Given the description of an element on the screen output the (x, y) to click on. 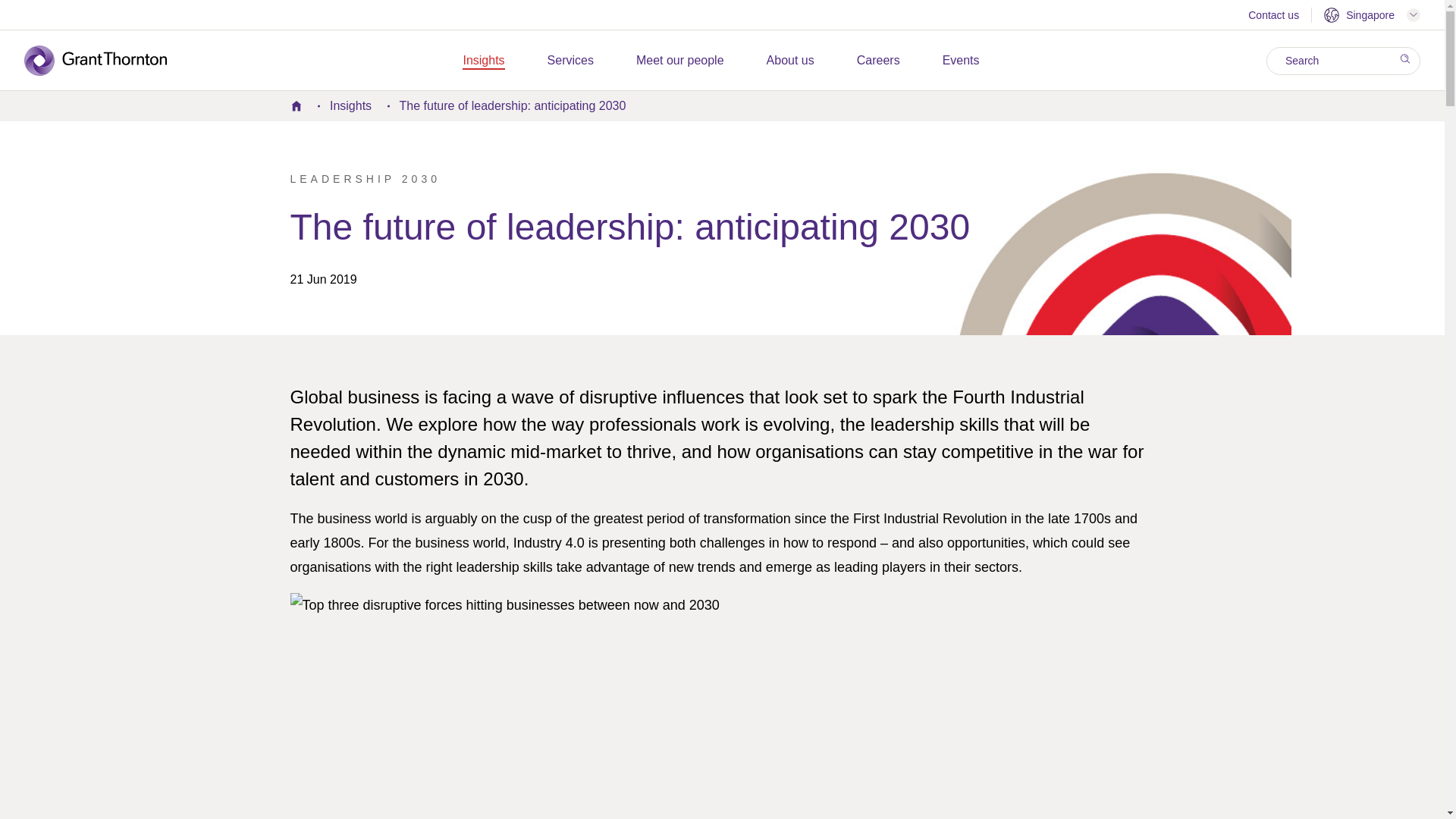
About us (790, 60)
Contact us (1272, 17)
open a new window - Contact us (1272, 17)
Events (960, 60)
Singapore (1372, 14)
Meet our people (679, 60)
Insights (483, 60)
Explore the Grant Thornton network (1372, 14)
Services (570, 60)
Careers (878, 60)
logo (105, 60)
